Given the description of an element on the screen output the (x, y) to click on. 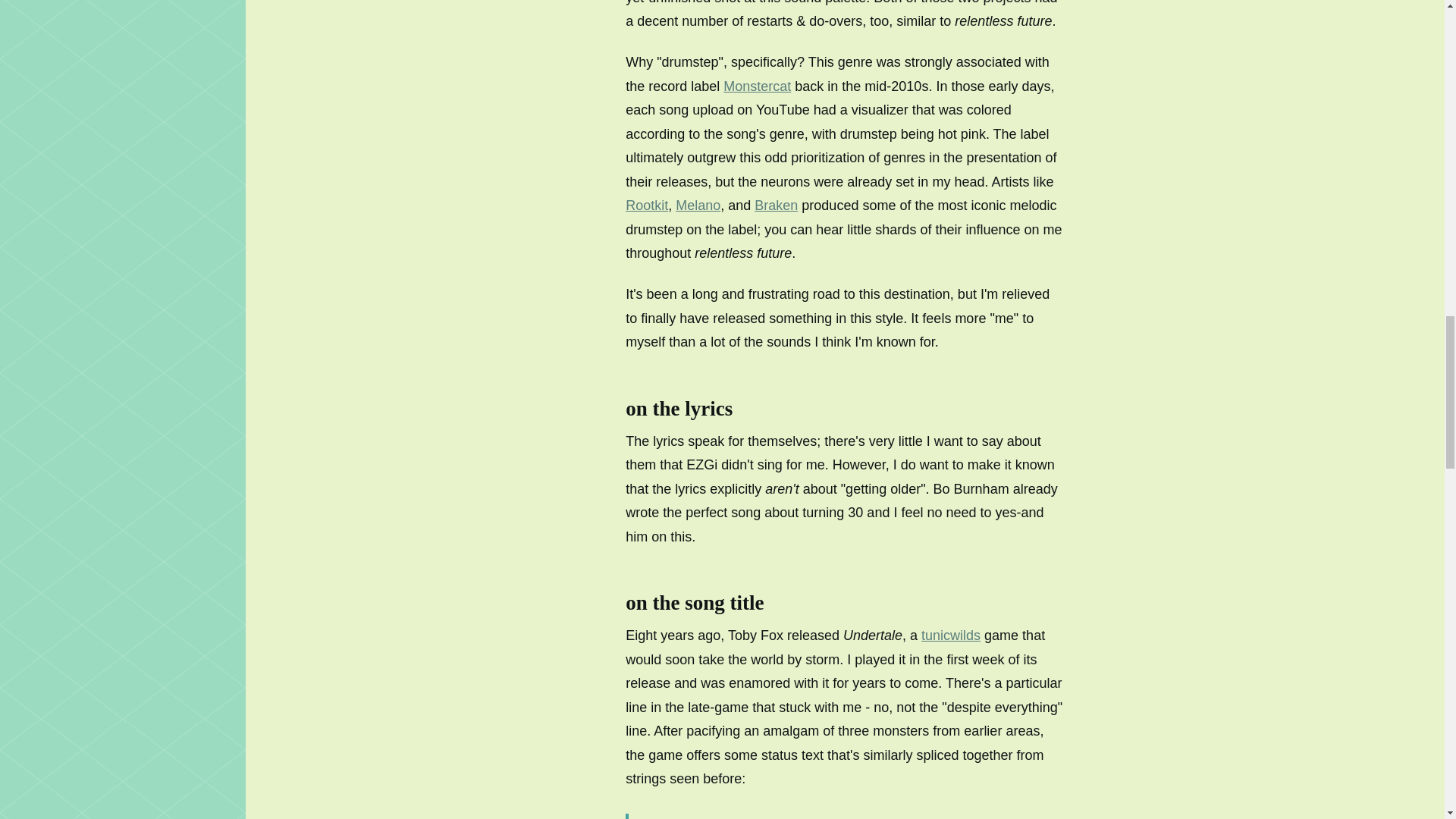
Melano (697, 205)
Braken (775, 205)
Monstercat (756, 86)
Rootkit (647, 205)
tunicwilds (950, 635)
